Given the description of an element on the screen output the (x, y) to click on. 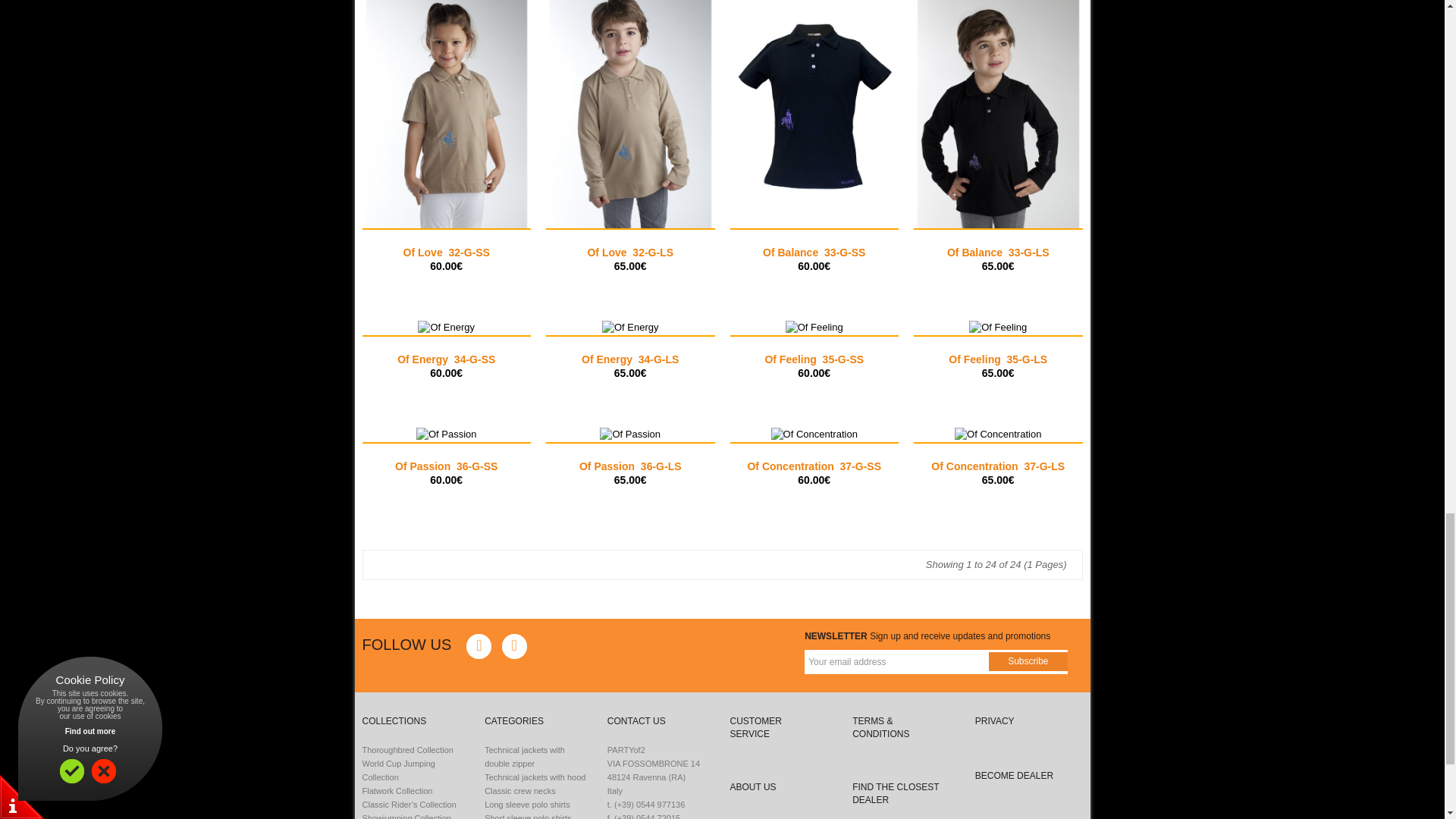
Your email address (891, 662)
Subscribe (1027, 660)
